Given the description of an element on the screen output the (x, y) to click on. 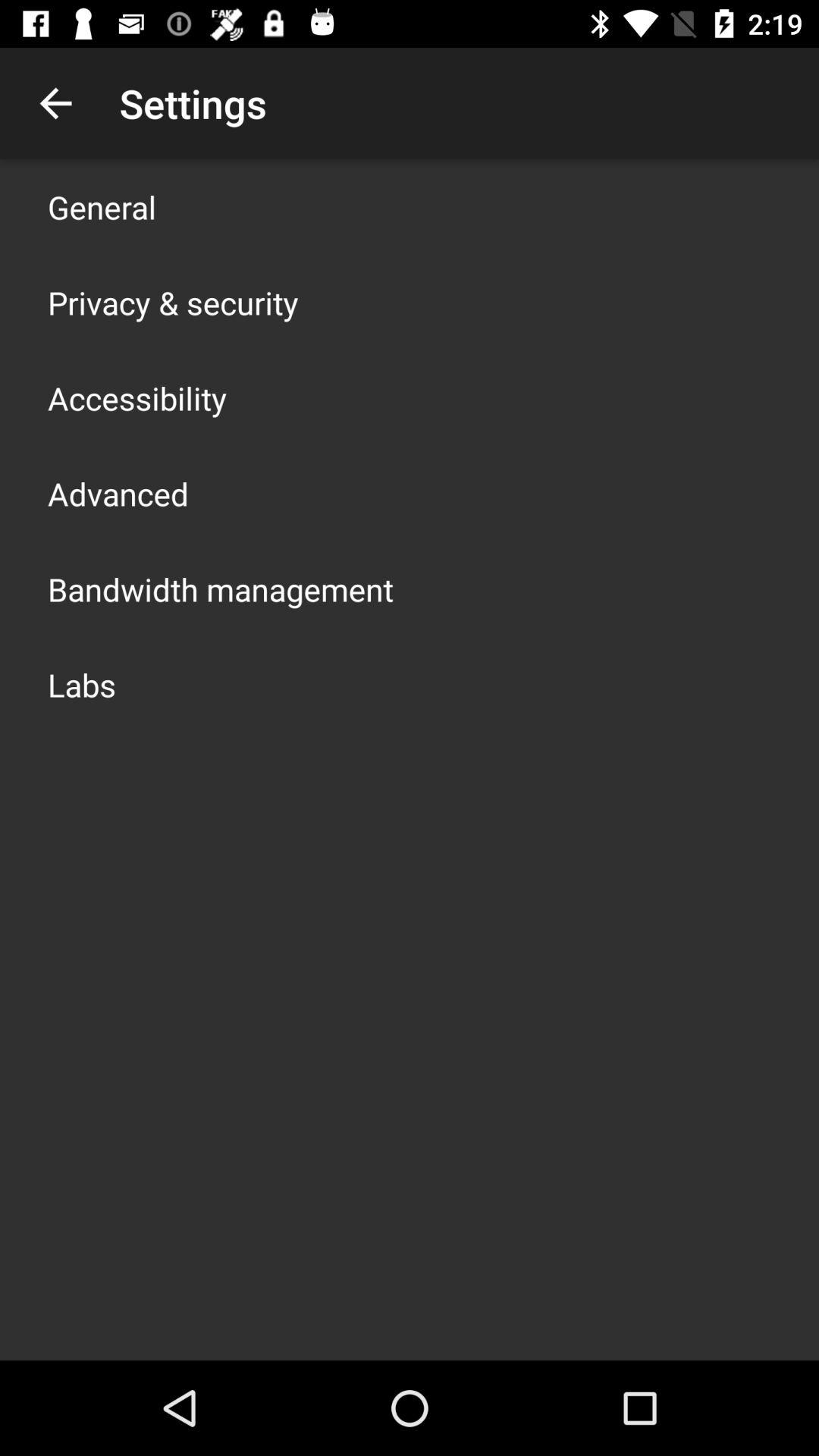
choose the icon next to the settings item (55, 103)
